Given the description of an element on the screen output the (x, y) to click on. 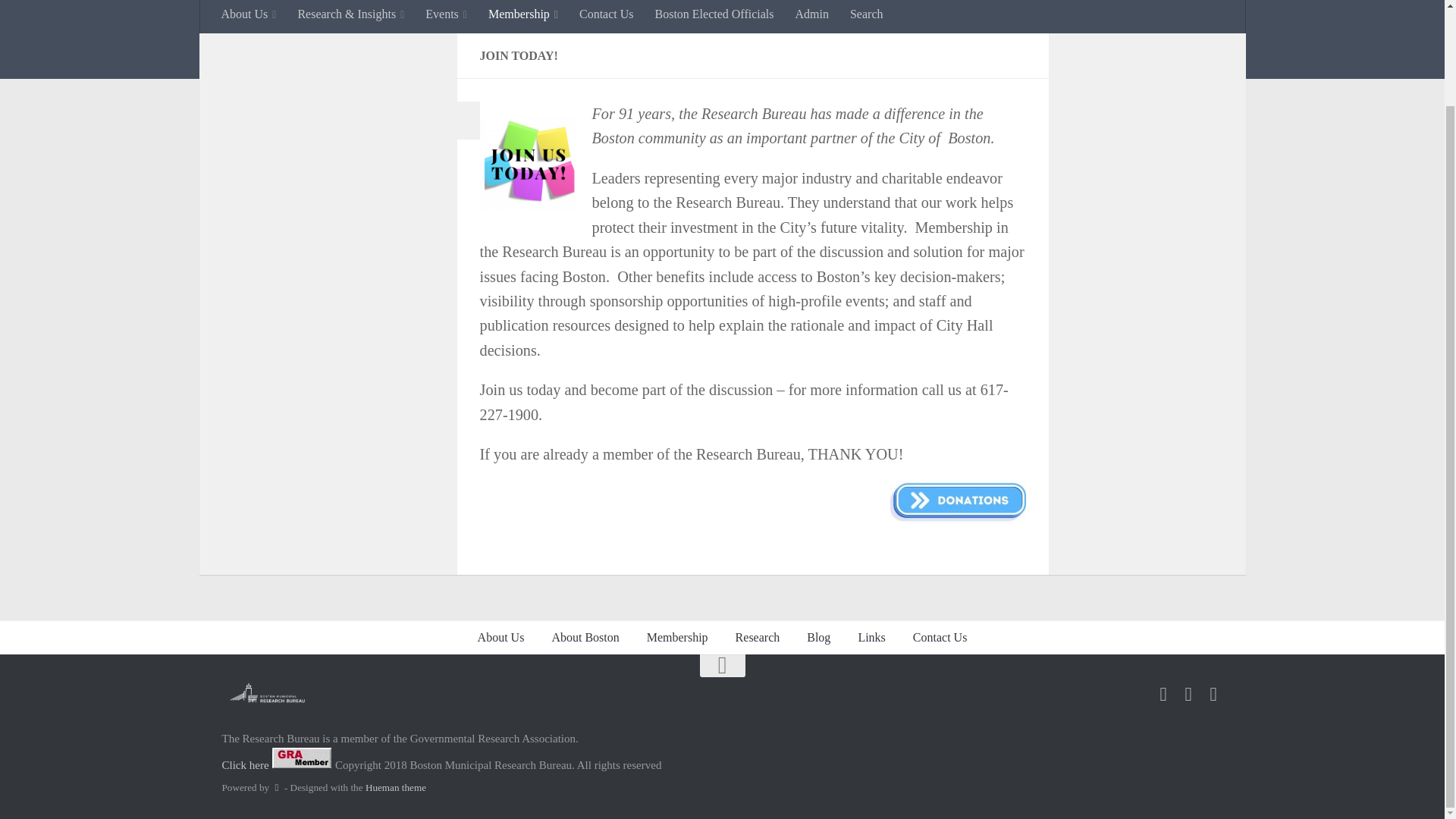
Powered by WordPress (275, 787)
Follow us on Linkedin-in (1213, 693)
Follow us on Facebook (1162, 693)
Follow us on Twitter (1186, 693)
About Us (248, 16)
Hueman theme (395, 786)
